Given the description of an element on the screen output the (x, y) to click on. 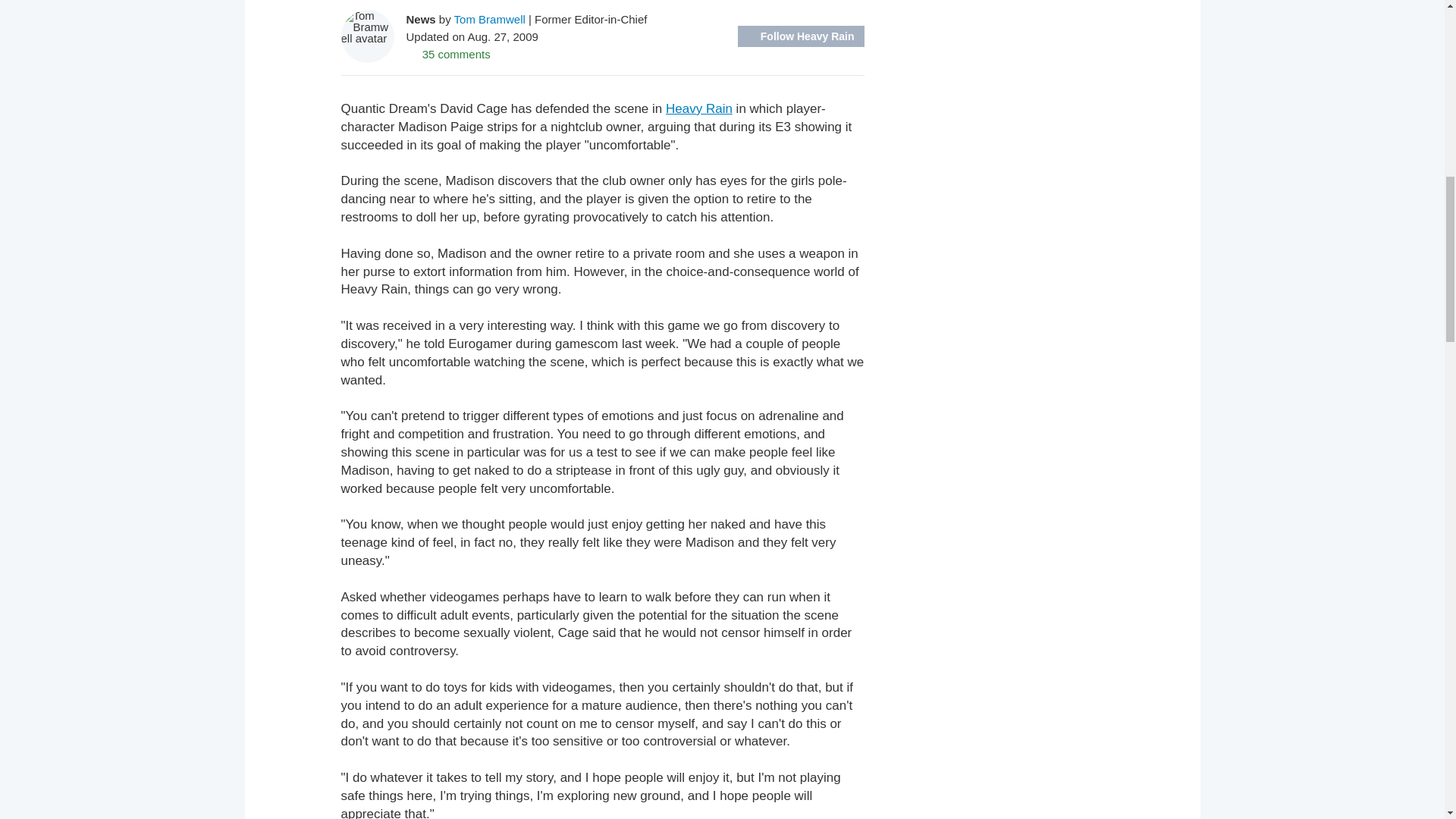
35 comments (448, 52)
Follow Heavy Rain (801, 35)
Tom Bramwell (489, 18)
Heavy Rain (698, 108)
